Given the description of an element on the screen output the (x, y) to click on. 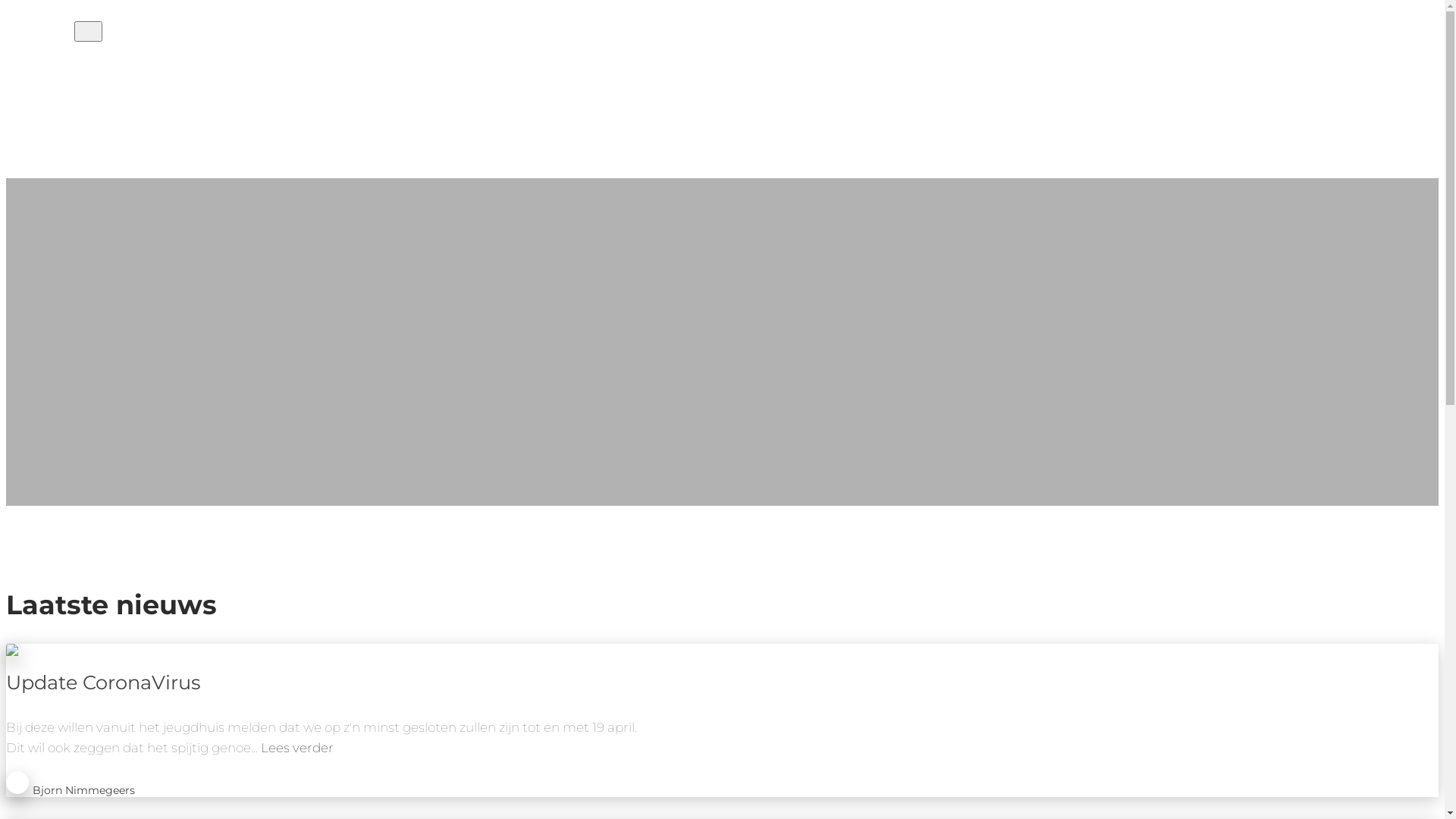
Update CoronaVirus Element type: text (103, 682)
EVENTS Element type: text (69, 81)
LID WORDEN? Element type: text (82, 101)
Lees verder Element type: text (296, 748)
NIEUWS Element type: text (69, 61)
JH DE BEESTE Element type: text (40, 31)
OVER ONS Element type: text (72, 120)
Bjorn Nimmegeers Element type: text (83, 790)
